Given the description of an element on the screen output the (x, y) to click on. 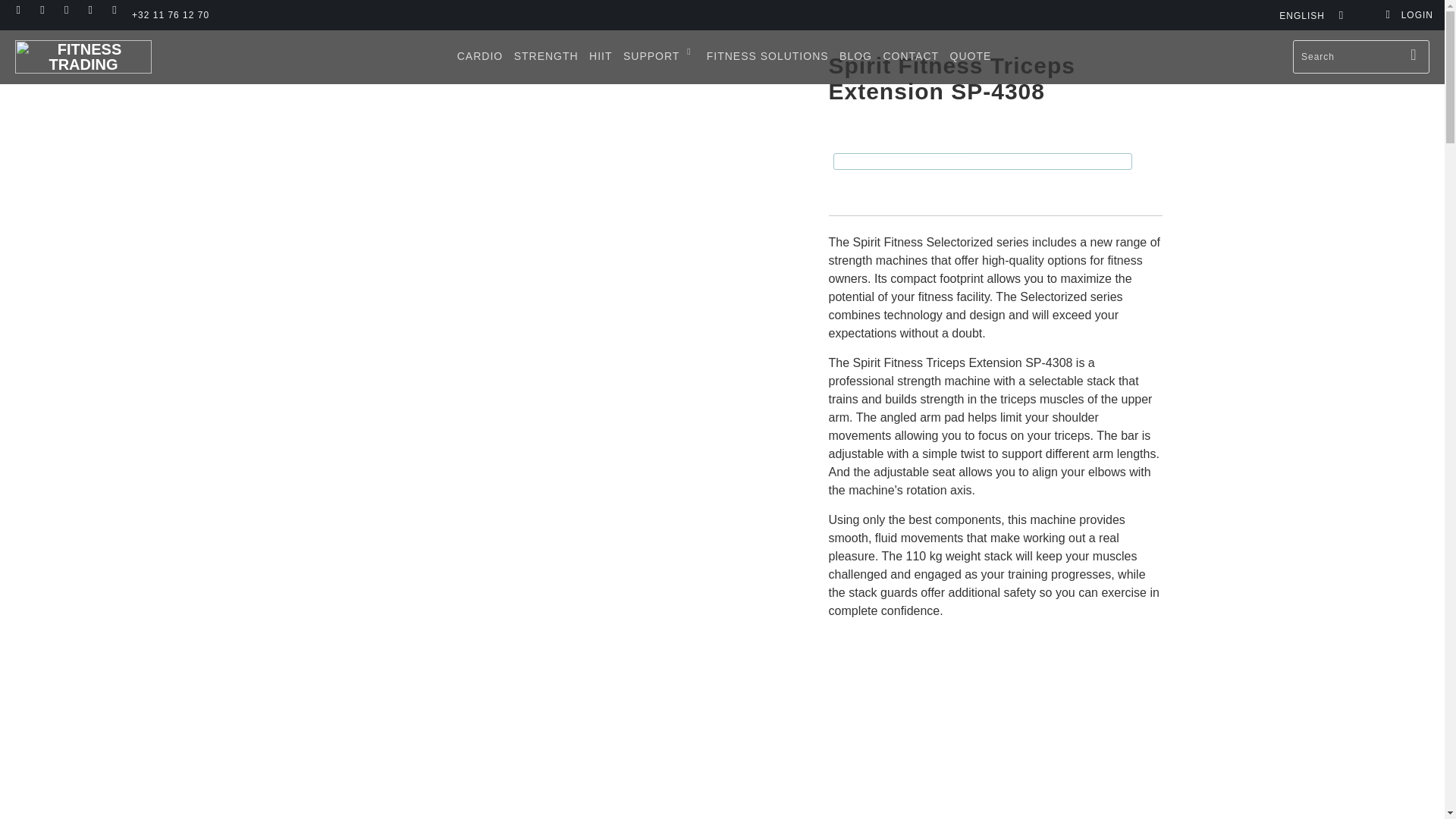
Fitness Trading on Instagram (89, 9)
ENGLISH (1306, 15)
Fitness Trading (82, 56)
LOGIN (1408, 15)
Fitness Trading on YouTube (65, 9)
STRENGTH (545, 56)
Fitness Trading on LinkedIn (113, 9)
Fitness Trading on Facebook (41, 9)
Fitness Trading on Twitter (17, 9)
My Account  (1408, 15)
